Given the description of an element on the screen output the (x, y) to click on. 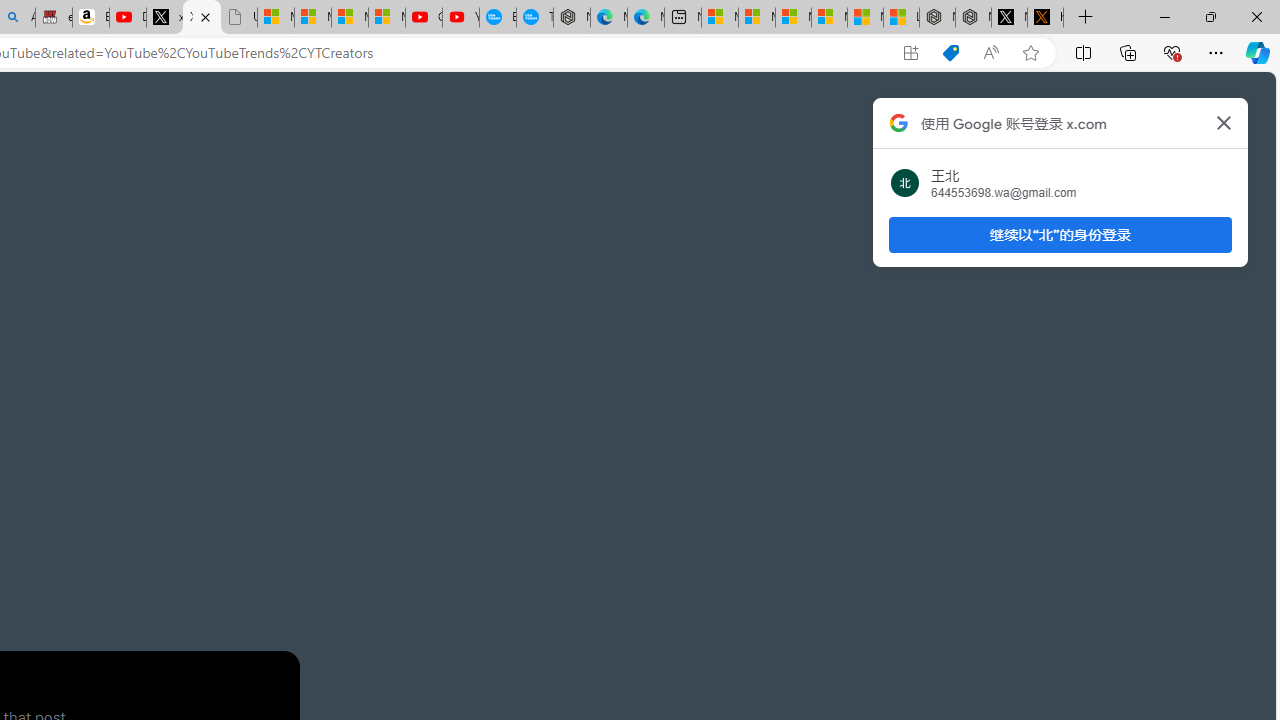
Nordace (@NordaceOfficial) / X (1009, 17)
Class: Bz112c Bz112c-r9oPif (1224, 122)
Shopping in Microsoft Edge (950, 53)
Untitled (239, 17)
